Given the description of an element on the screen output the (x, y) to click on. 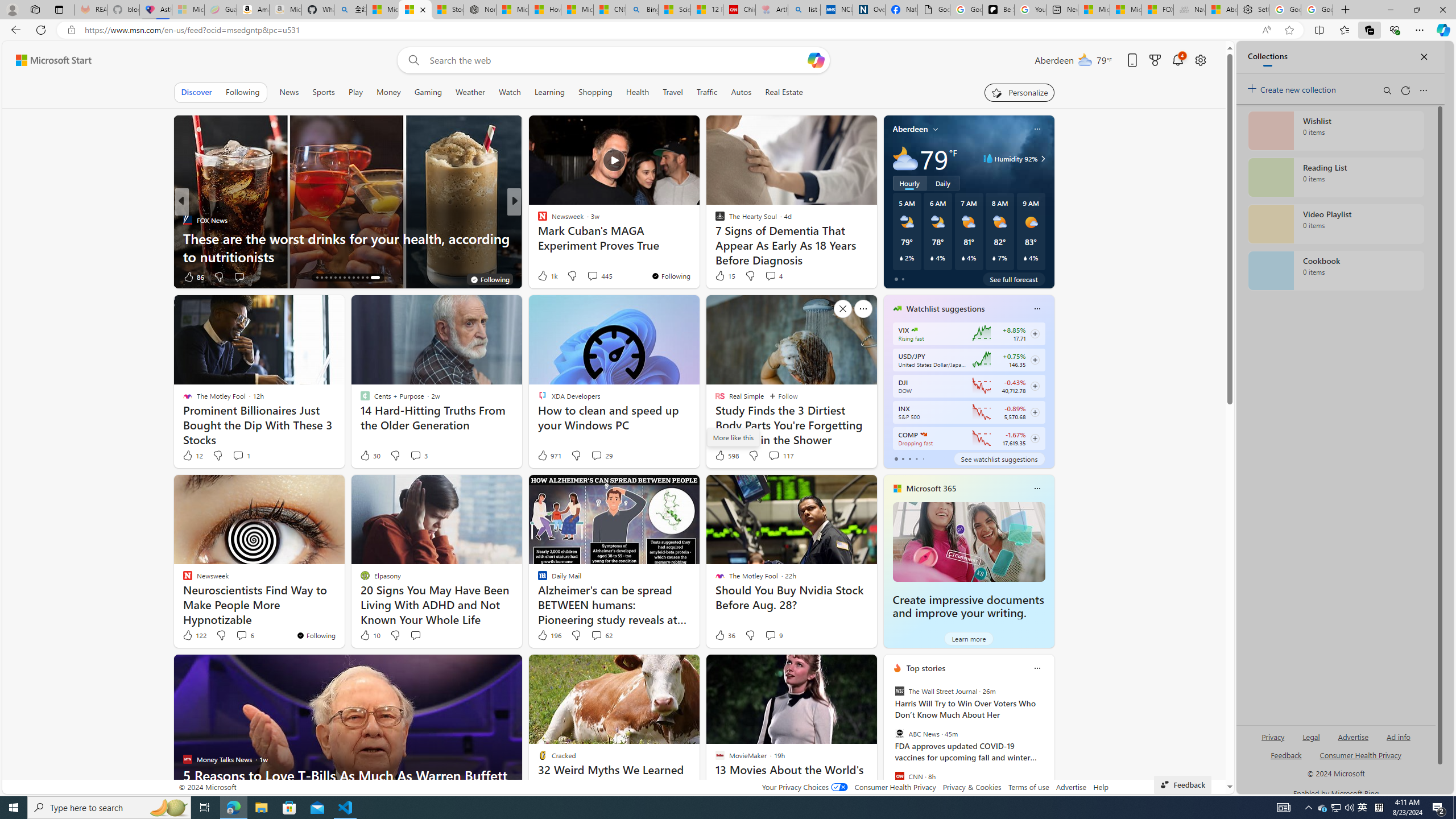
AutomationID: sb_feedback (1286, 754)
AutomationID: tab-17 (330, 277)
View comments 6 Comment (245, 634)
The Wall Street Journal (898, 691)
AutomationID: tab-22 (353, 277)
Aberdeen, Hong Kong SAR hourly forecast | Microsoft Weather (1221, 9)
You're following Newsweek (315, 635)
tab-1 (903, 458)
